Given the description of an element on the screen output the (x, y) to click on. 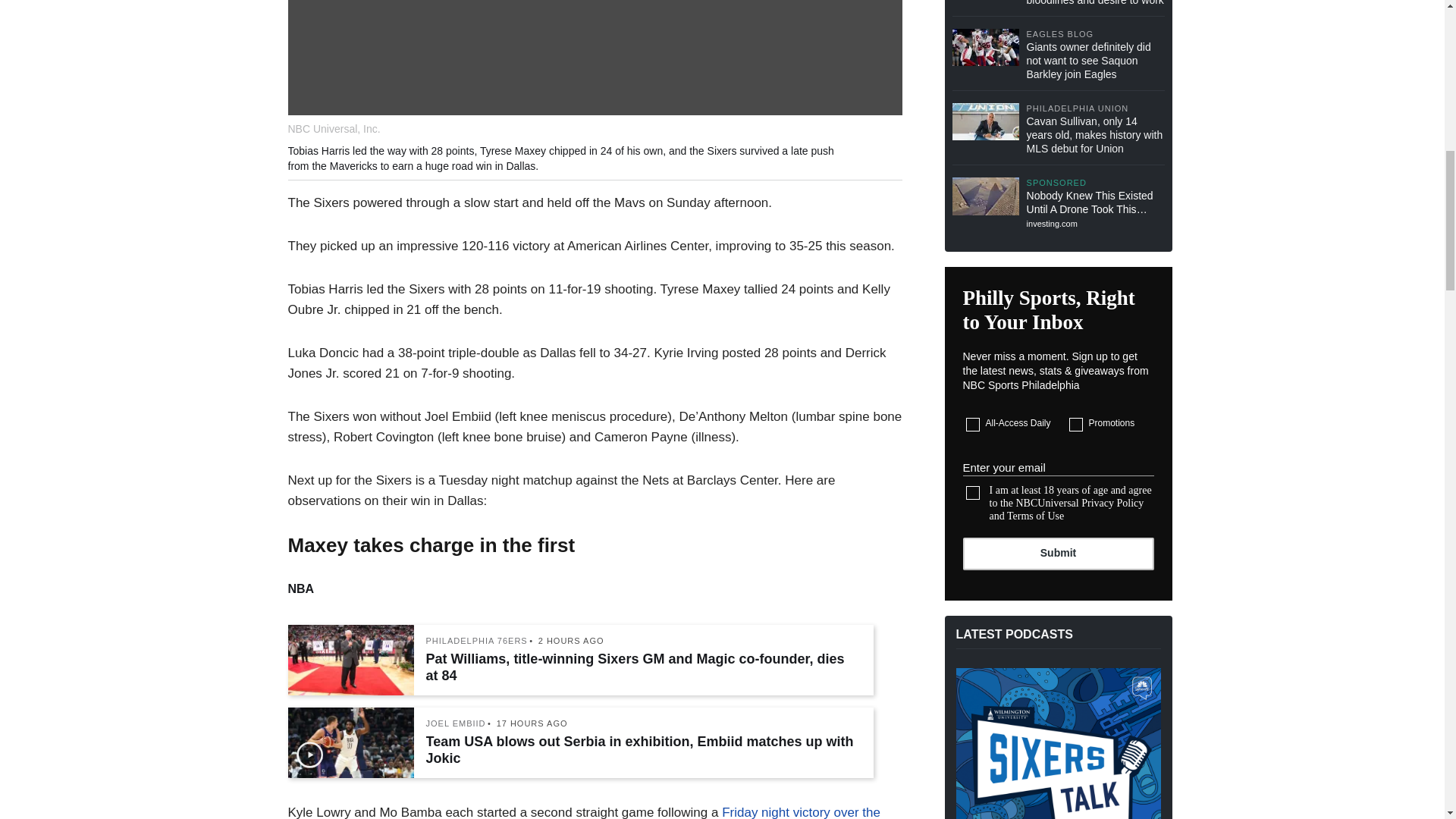
on (972, 492)
on (1075, 424)
JOEL EMBIID (456, 723)
Friday night victory over the Hornets. (584, 812)
PHILADELPHIA 76ERS (476, 641)
on (972, 424)
